Given the description of an element on the screen output the (x, y) to click on. 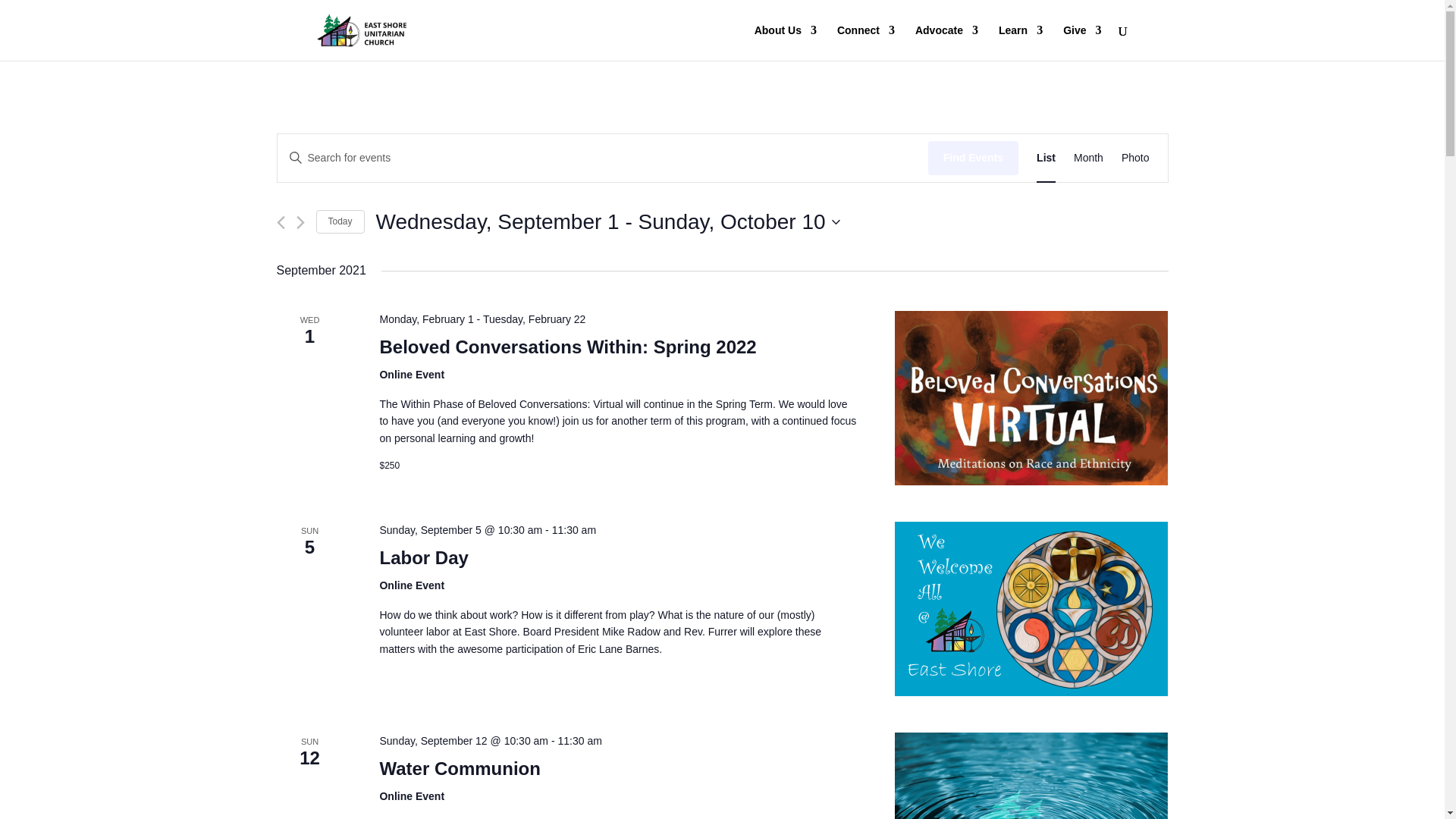
About Us (785, 42)
Beloved Conversations Within: Spring 2022 (1031, 398)
Beloved Conversations Within: Spring 2022 (566, 346)
Advocate (946, 42)
Click to select today's date (339, 221)
Water Communion (459, 768)
Learn (1020, 42)
Give (1081, 42)
Labor Day (1031, 608)
Labor Day (422, 557)
Water Communion (1031, 775)
Connect (866, 42)
Click to toggle datepicker (607, 222)
